Given the description of an element on the screen output the (x, y) to click on. 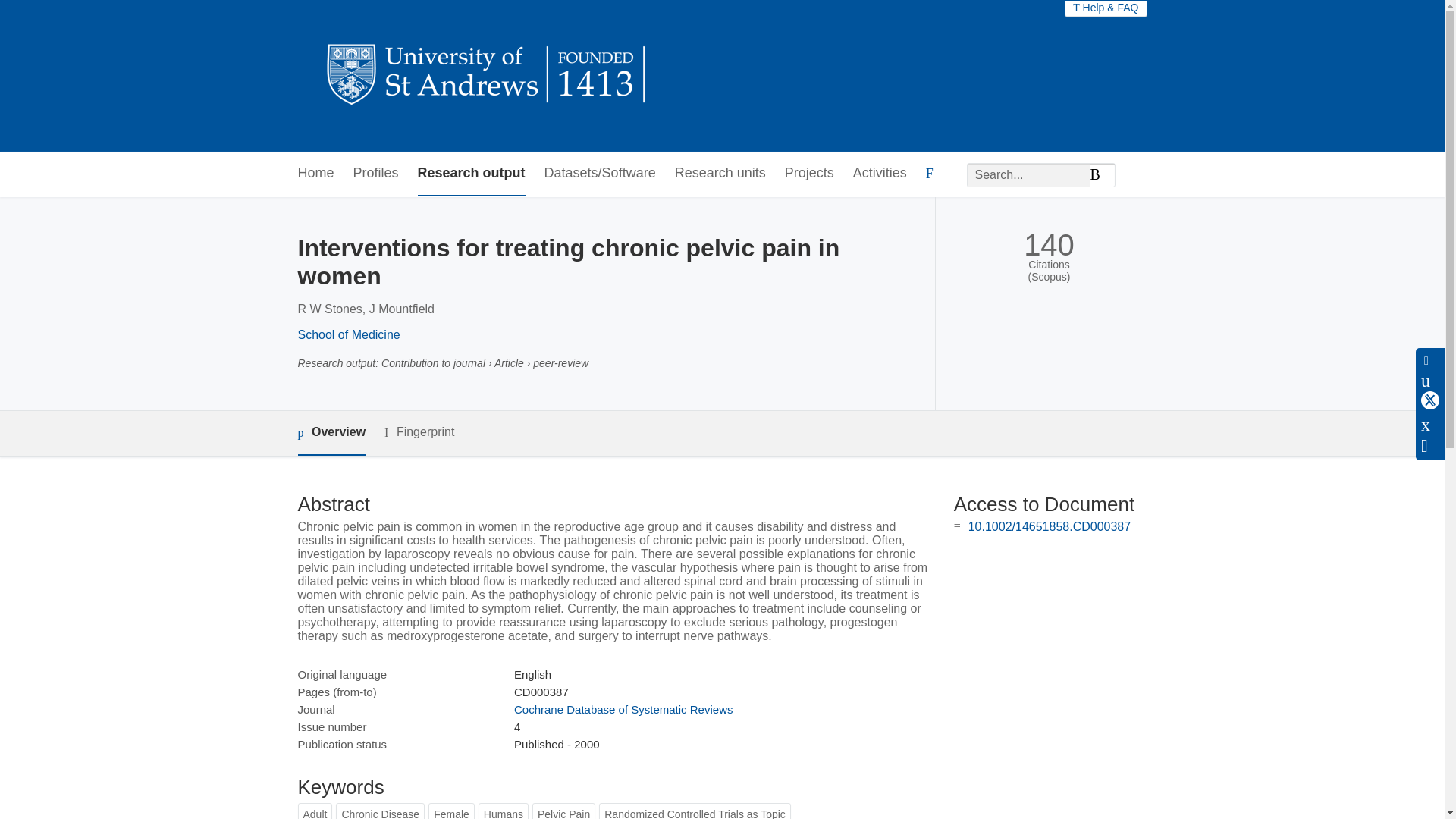
School of Medicine (347, 334)
Fingerprint (419, 432)
Projects (809, 173)
Overview (331, 433)
Profiles (375, 173)
Research units (720, 173)
University of St Andrews Research Portal Home (487, 75)
Cochrane Database of Systematic Reviews (622, 708)
Research output (471, 173)
Activities (880, 173)
